Given the description of an element on the screen output the (x, y) to click on. 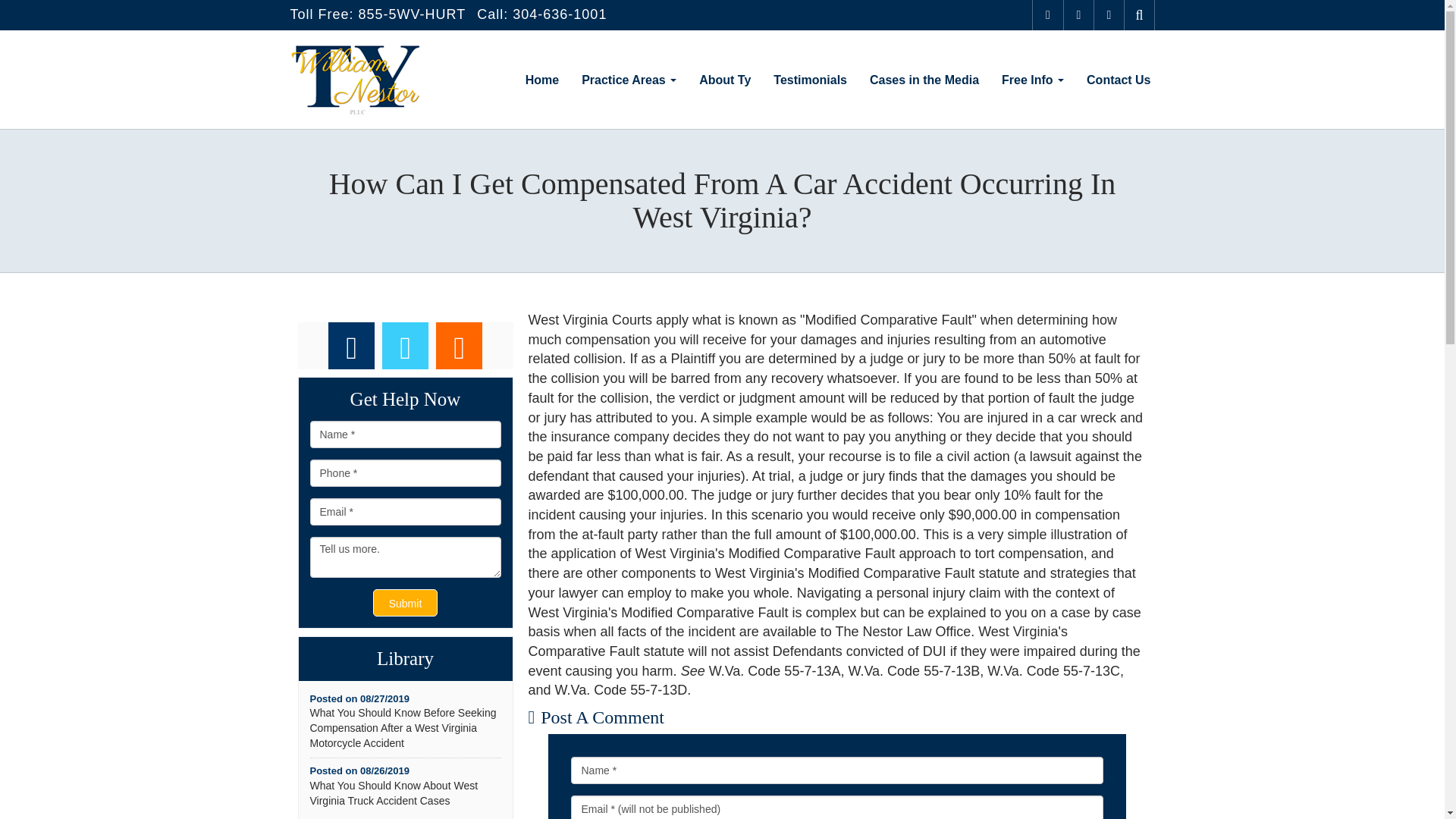
Testimonials (810, 79)
Practice Areas (628, 79)
Free Info (1032, 79)
Cases in the Media (924, 79)
Contact Us (1118, 79)
Library (404, 658)
Home (541, 79)
About Ty (724, 79)
Search (1139, 15)
Submit (405, 602)
